Given the description of an element on the screen output the (x, y) to click on. 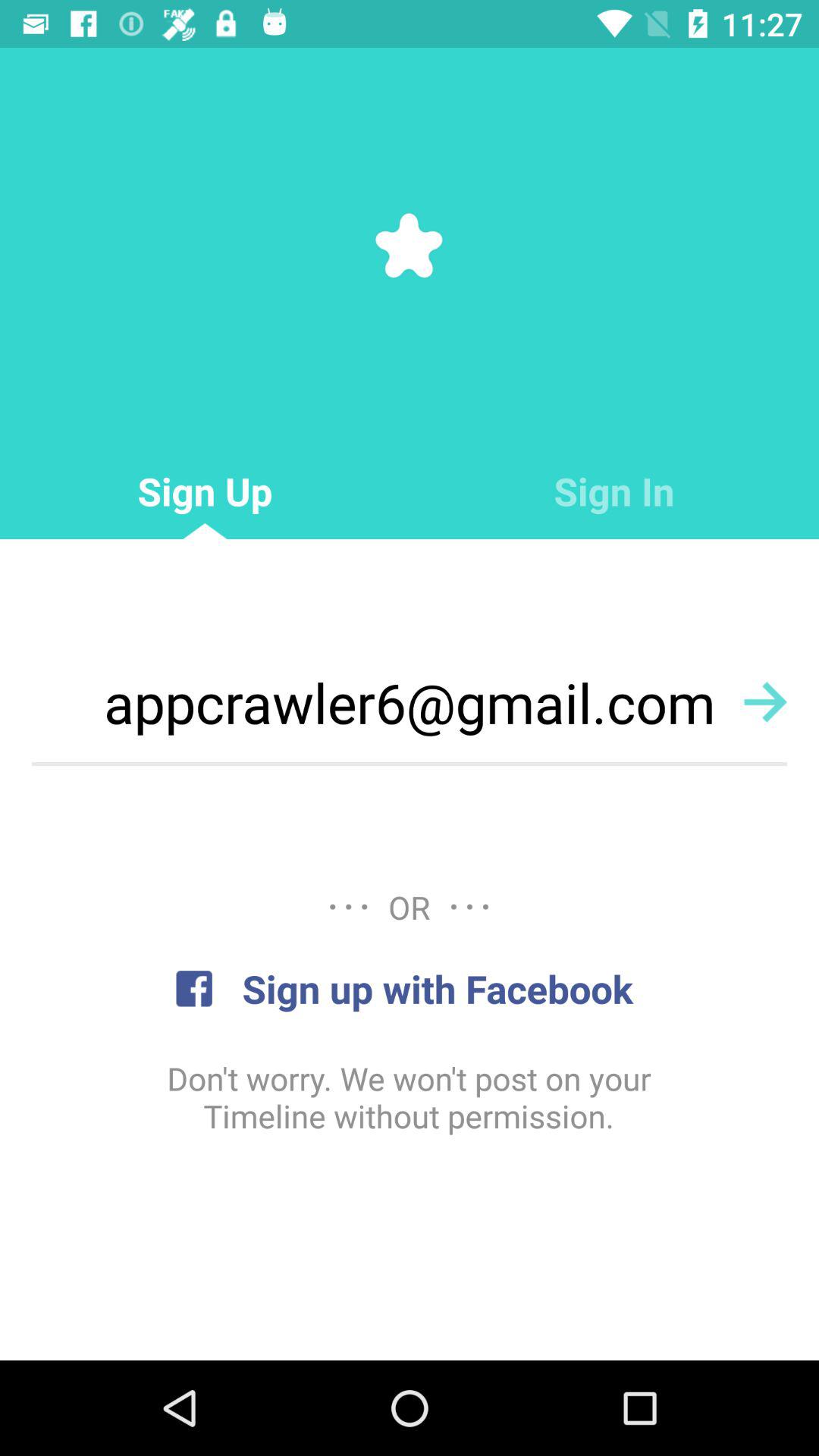
click the icon to the right of sign up icon (614, 491)
